Given the description of an element on the screen output the (x, y) to click on. 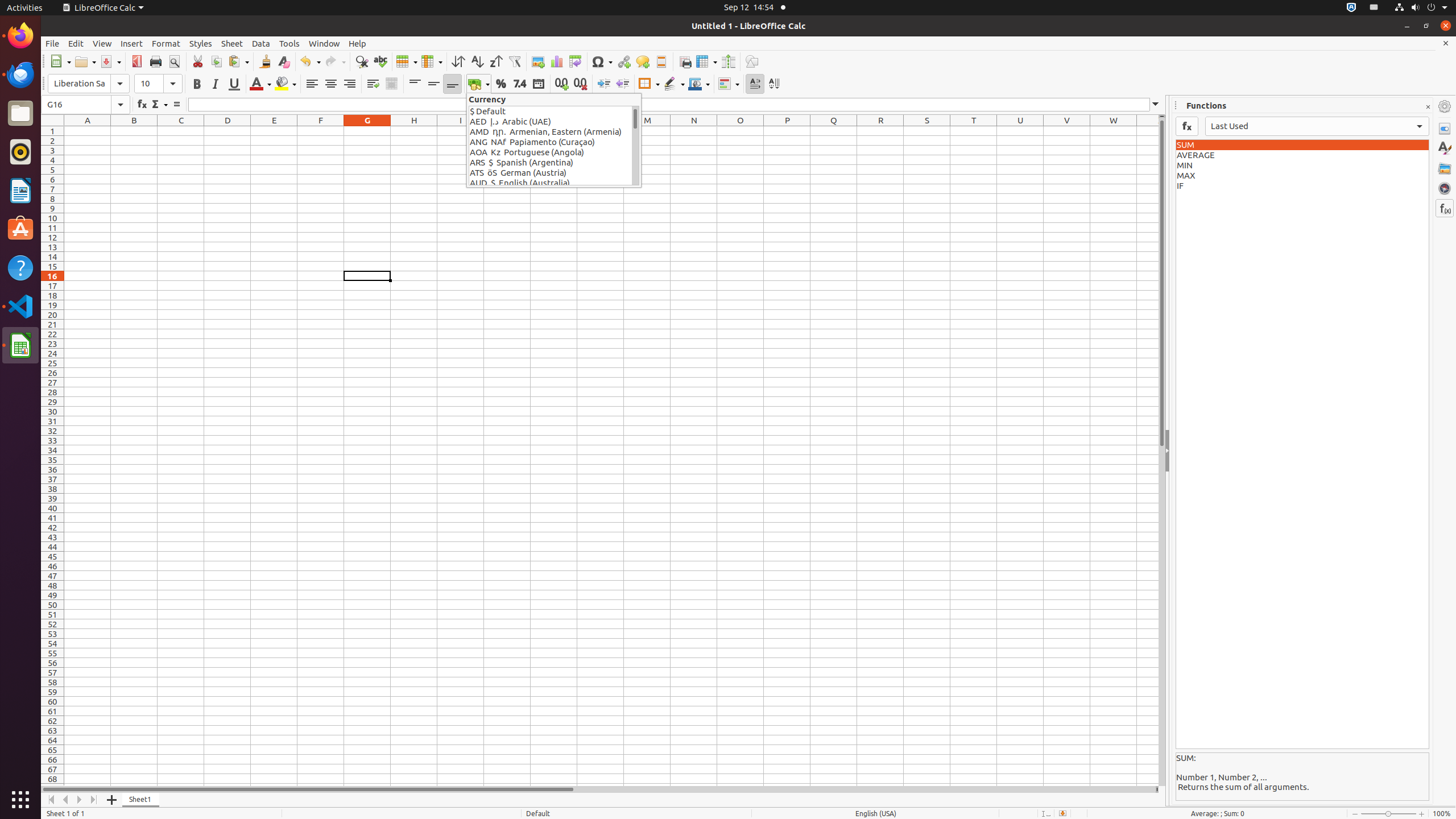
Center Vertically Element type: push-button (433, 83)
Edit Element type: menu (75, 43)
Format Element type: menu (165, 43)
Chart Element type: push-button (556, 61)
Draw Functions Element type: toggle-button (751, 61)
